Given the description of an element on the screen output the (x, y) to click on. 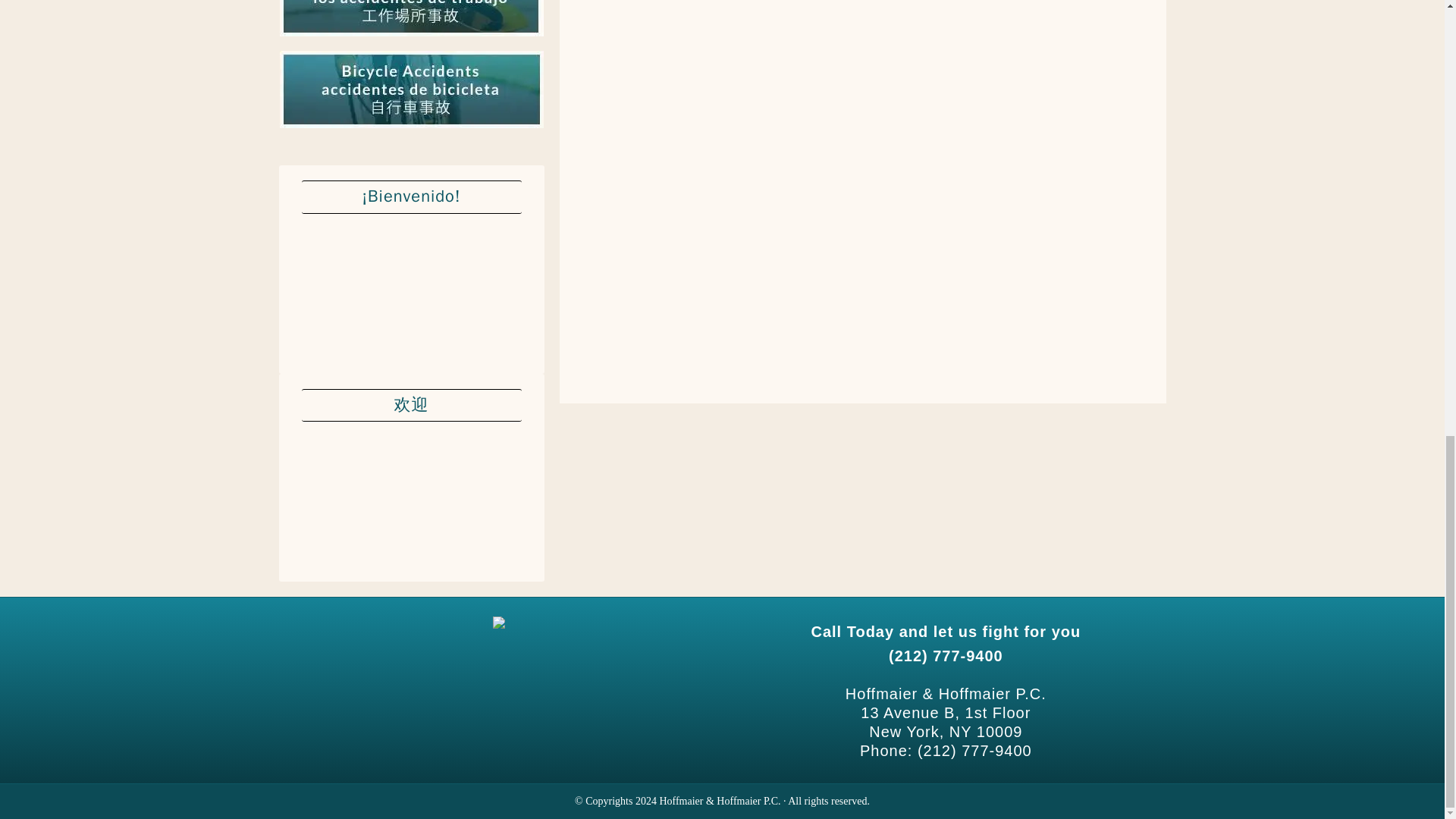
Bicycle Accidents (411, 128)
Workplace Accidents (411, 37)
